Given the description of an element on the screen output the (x, y) to click on. 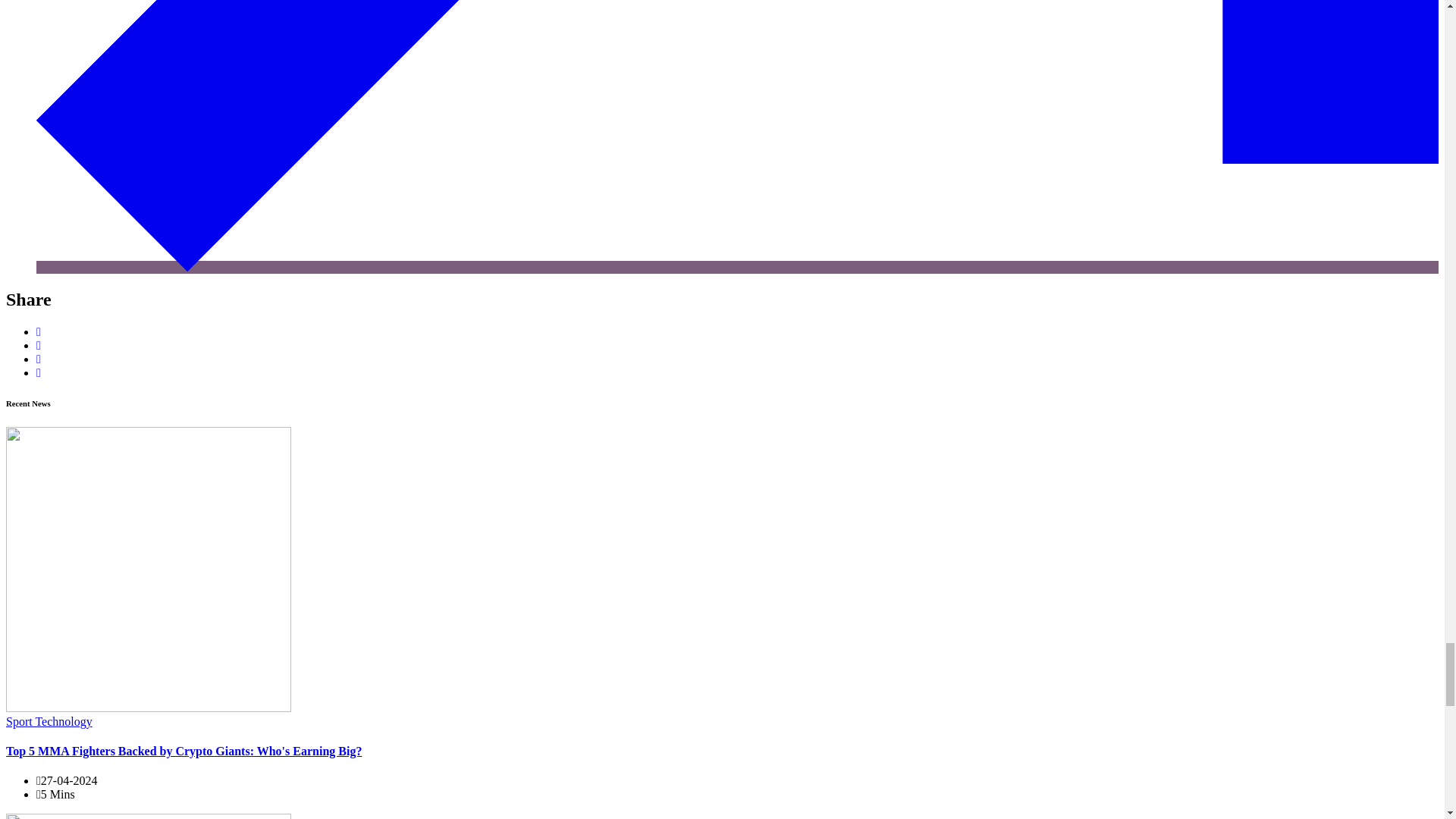
Sport Technology (49, 720)
